Given the description of an element on the screen output the (x, y) to click on. 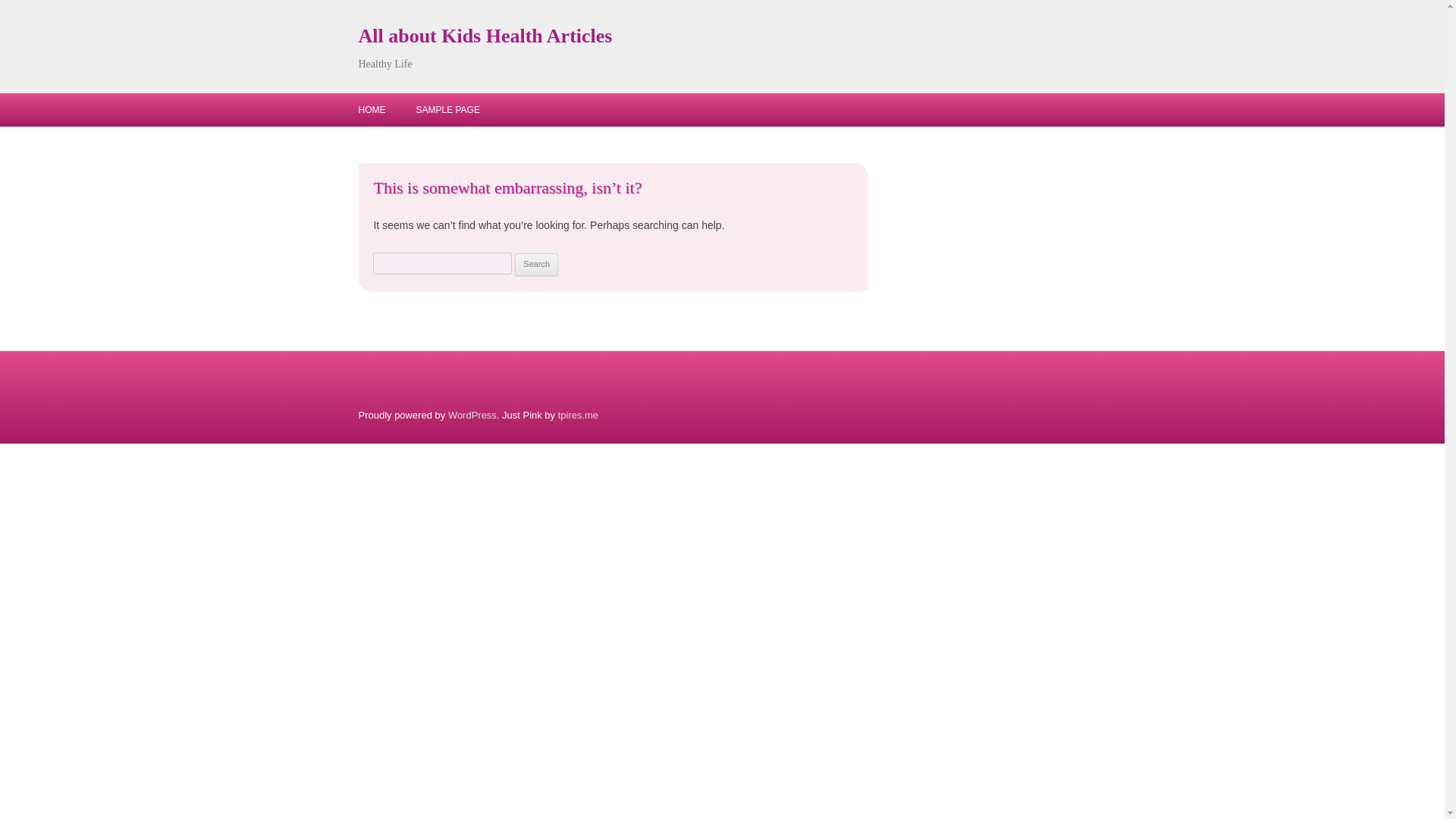
WordPress (472, 414)
SAMPLE PAGE (446, 109)
Search (536, 264)
All about Kids Health Articles (484, 36)
All about Kids Health Articles (484, 36)
Semantic Personal Publishing Platform (472, 414)
Search (536, 264)
tpires.me (577, 414)
